Given the description of an element on the screen output the (x, y) to click on. 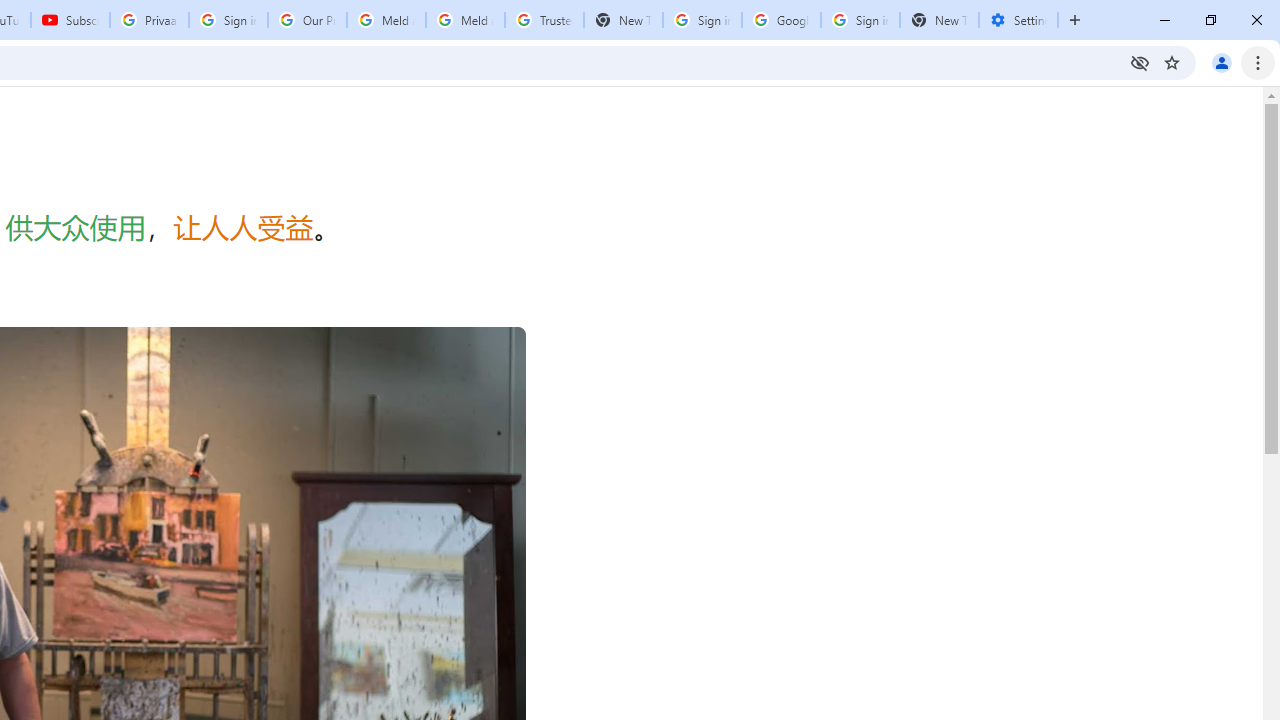
Trusted Information and Content - Google Safety Center (544, 20)
Google Cybersecurity Innovations - Google Safety Center (781, 20)
Subscriptions - YouTube (70, 20)
